Given the description of an element on the screen output the (x, y) to click on. 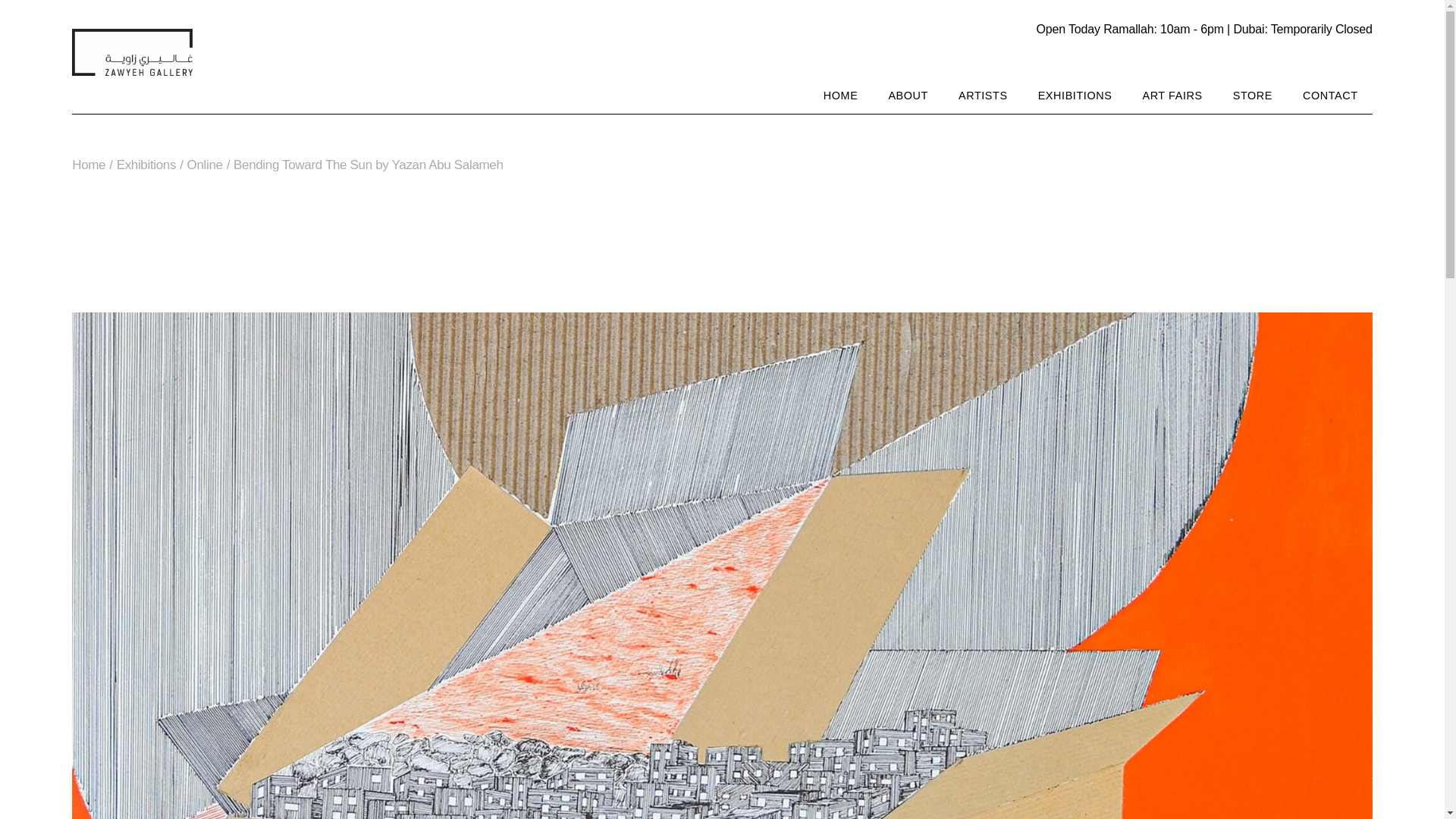
Online (204, 164)
Exhibitions (146, 164)
Home (87, 164)
